Given the description of an element on the screen output the (x, y) to click on. 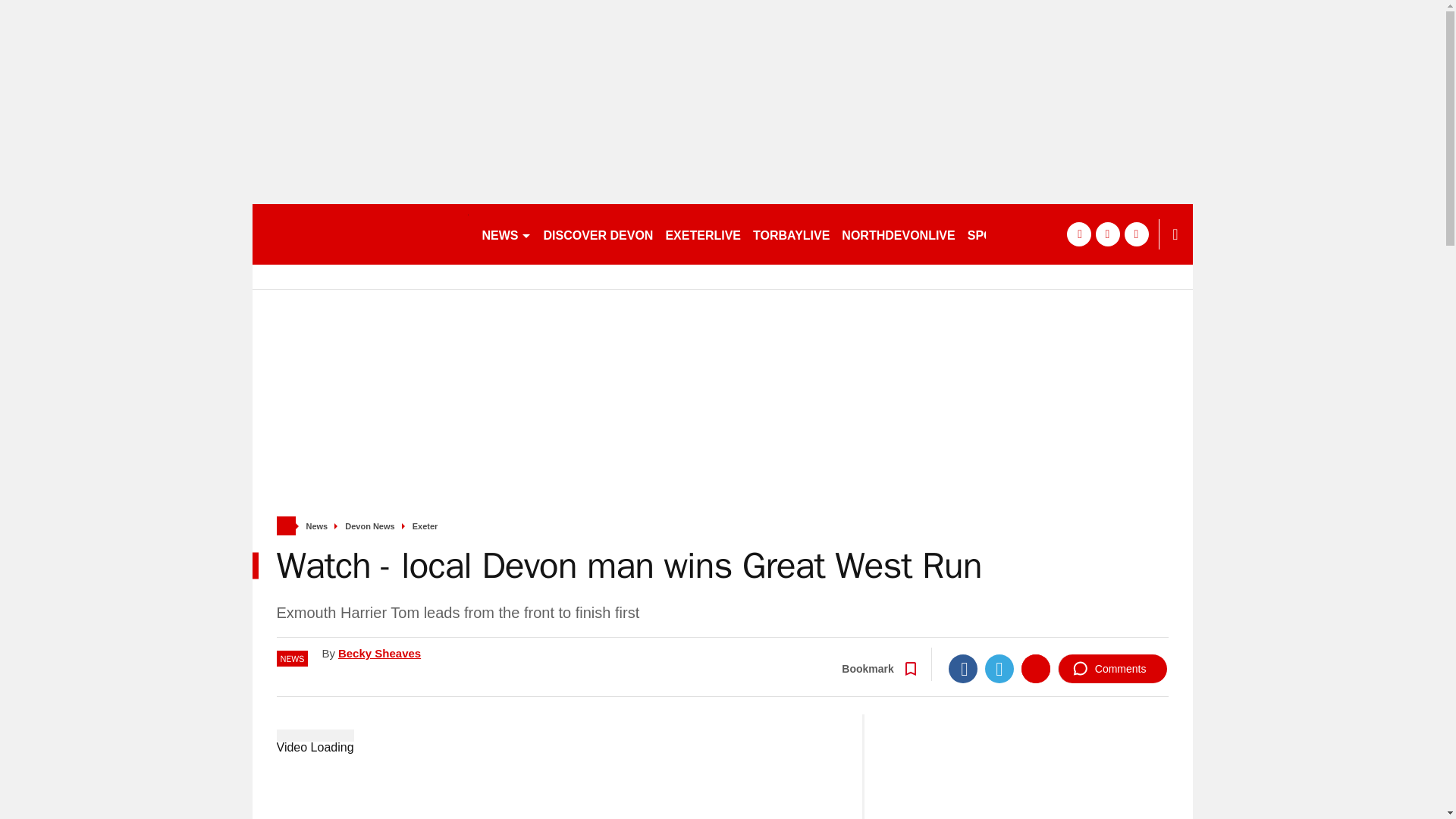
SPORT (993, 233)
DISCOVER DEVON (598, 233)
devonlive (359, 233)
twitter (1106, 233)
TORBAYLIVE (790, 233)
facebook (1077, 233)
NORTHDEVONLIVE (897, 233)
NEWS (506, 233)
instagram (1136, 233)
Twitter (999, 668)
